Given the description of an element on the screen output the (x, y) to click on. 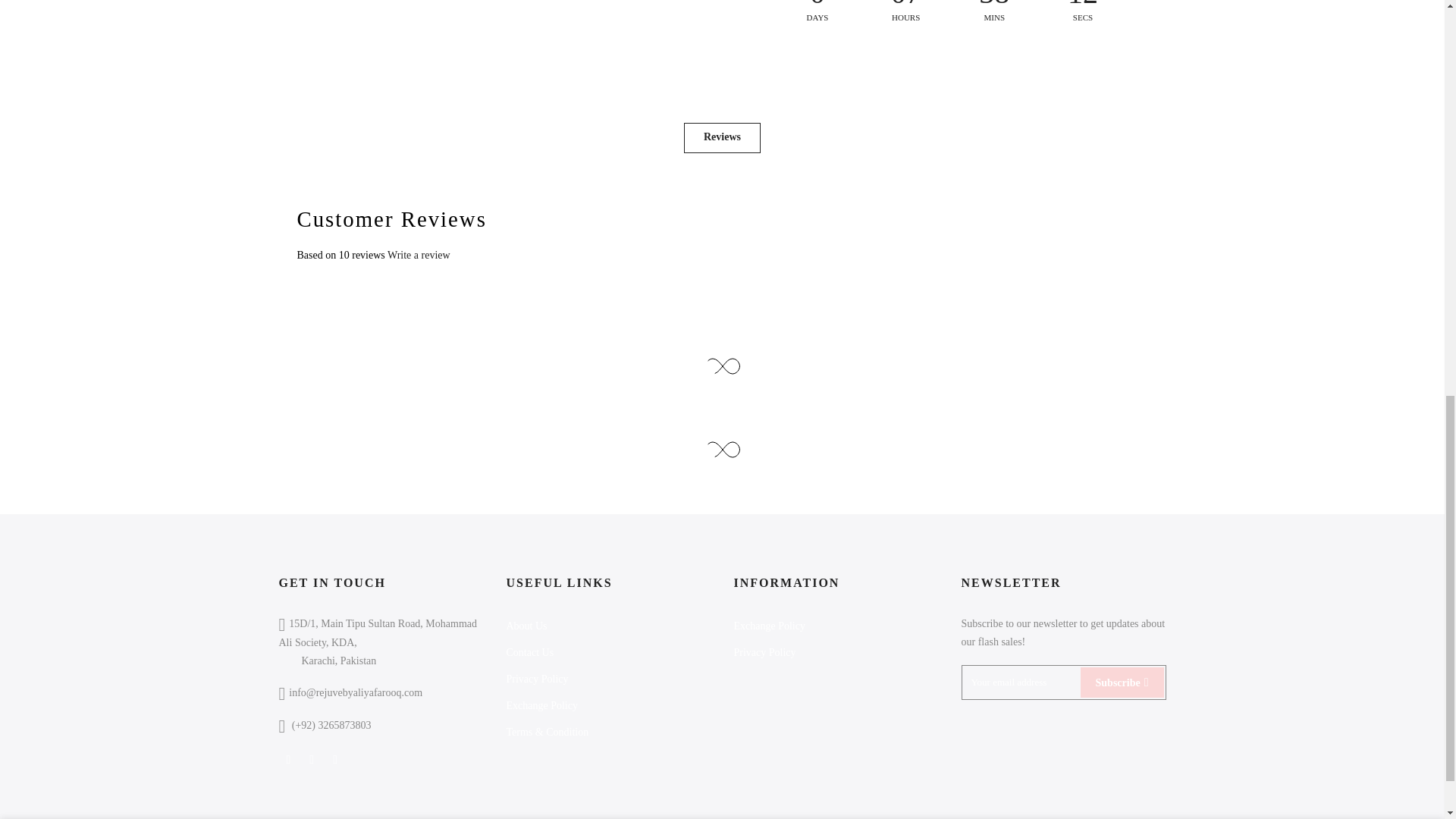
About Us (526, 625)
Subscribe (1121, 682)
Exchange Policy (542, 705)
Privacy Policy (764, 652)
1 (1001, 35)
Contact Us (530, 652)
Privacy Policy (537, 678)
Exchange Policy (769, 625)
Reviews (722, 137)
Write a review (418, 255)
